Given the description of an element on the screen output the (x, y) to click on. 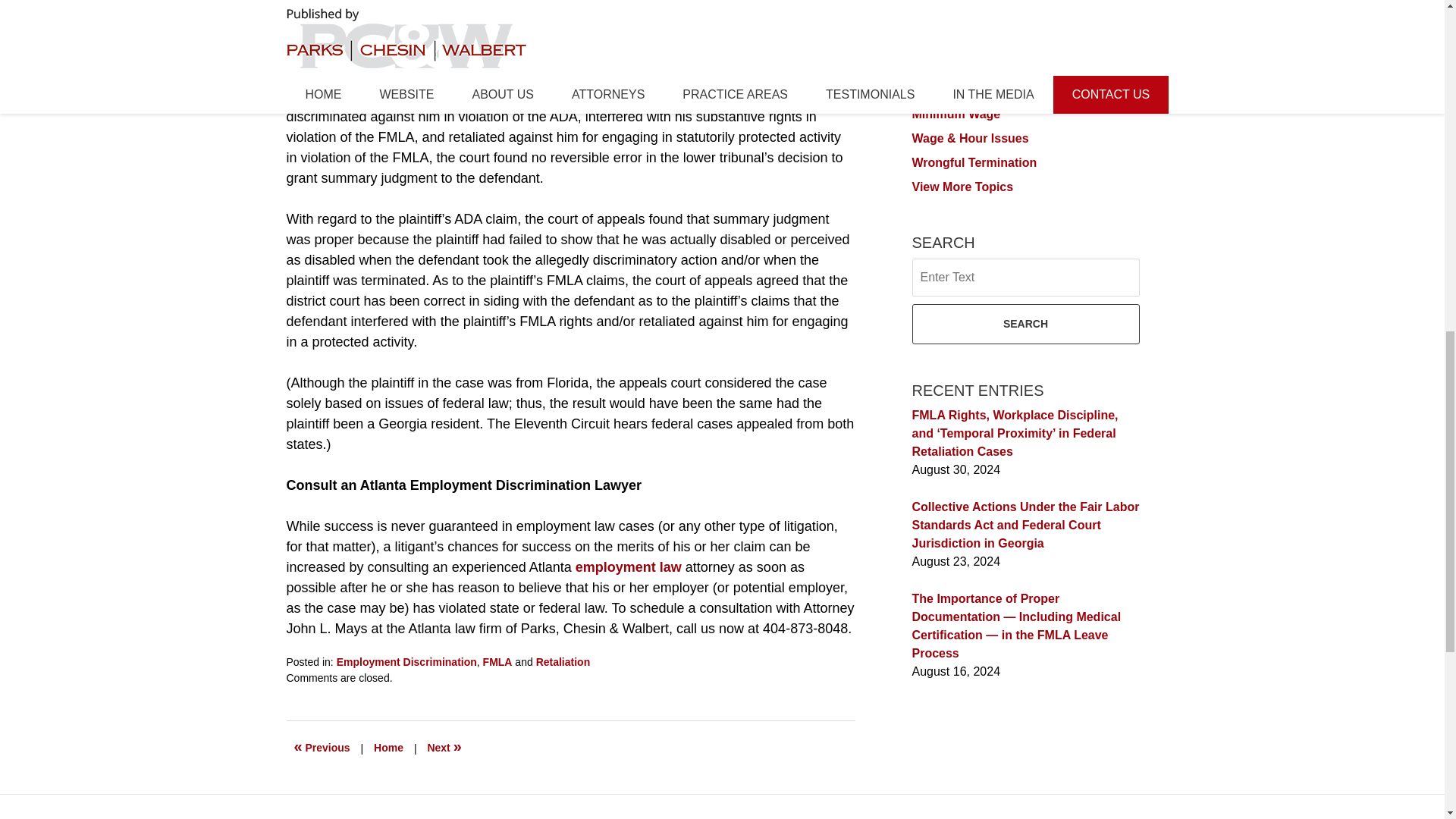
View all posts in Retaliation (563, 662)
Home (388, 748)
View all posts in Employment Discrimination (406, 662)
Employment Law (961, 41)
FMLA (927, 65)
Employment Discrimination (406, 662)
View all posts in FMLA (497, 662)
Retaliation (942, 16)
